Given the description of an element on the screen output the (x, y) to click on. 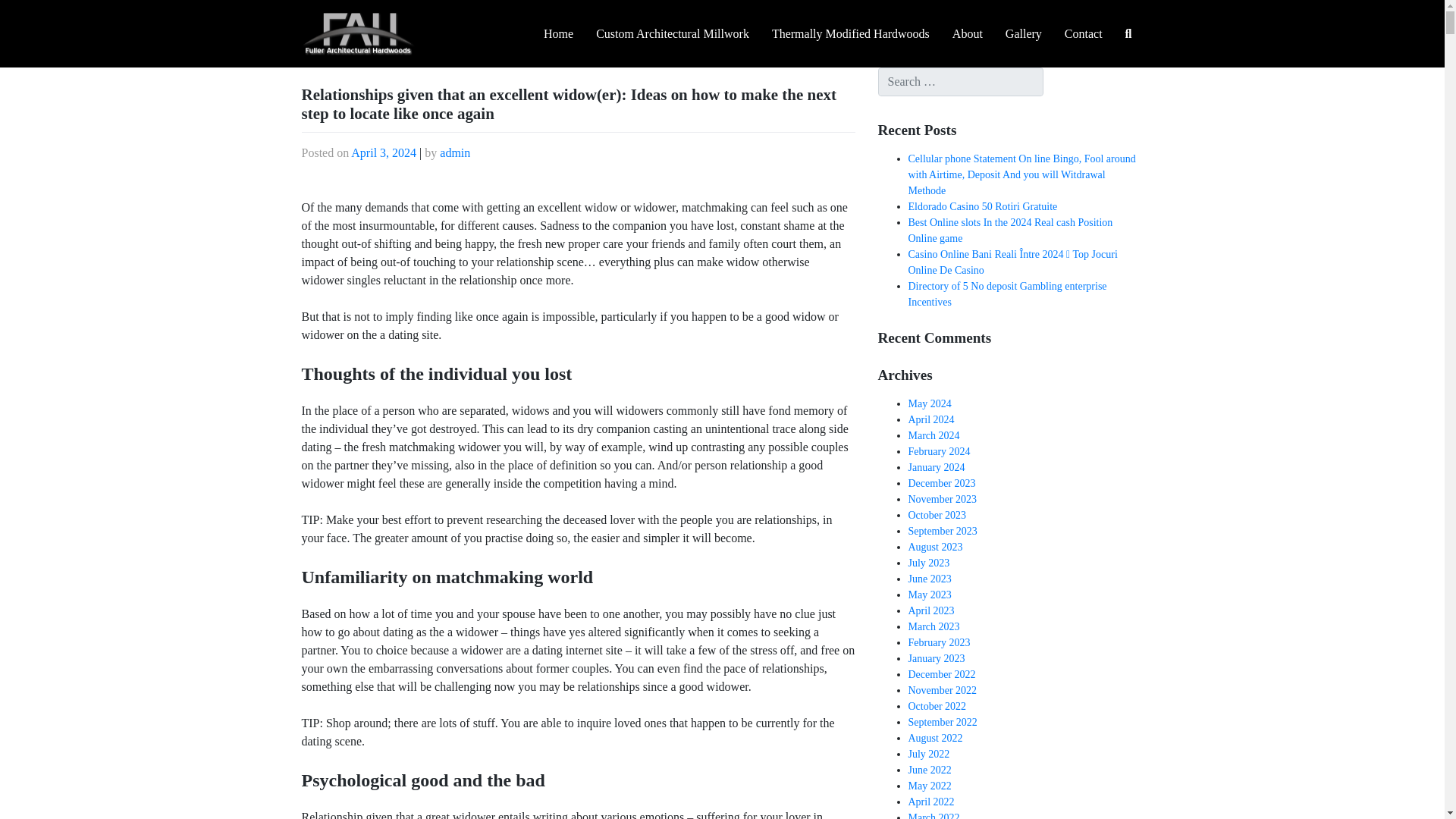
Contact (1082, 34)
Gallery (1023, 34)
Search (26, 14)
Home (558, 34)
Search (1075, 74)
About (967, 34)
Directory of 5 No deposit Gambling enterprise Incentives (1007, 293)
September 2023 (942, 531)
November 2023 (942, 499)
December 2023 (941, 482)
June 2023 (930, 578)
May 2024 (930, 403)
Gallery (1023, 34)
Custom Architectural Millwork (672, 34)
Contact (1082, 34)
